Given the description of an element on the screen output the (x, y) to click on. 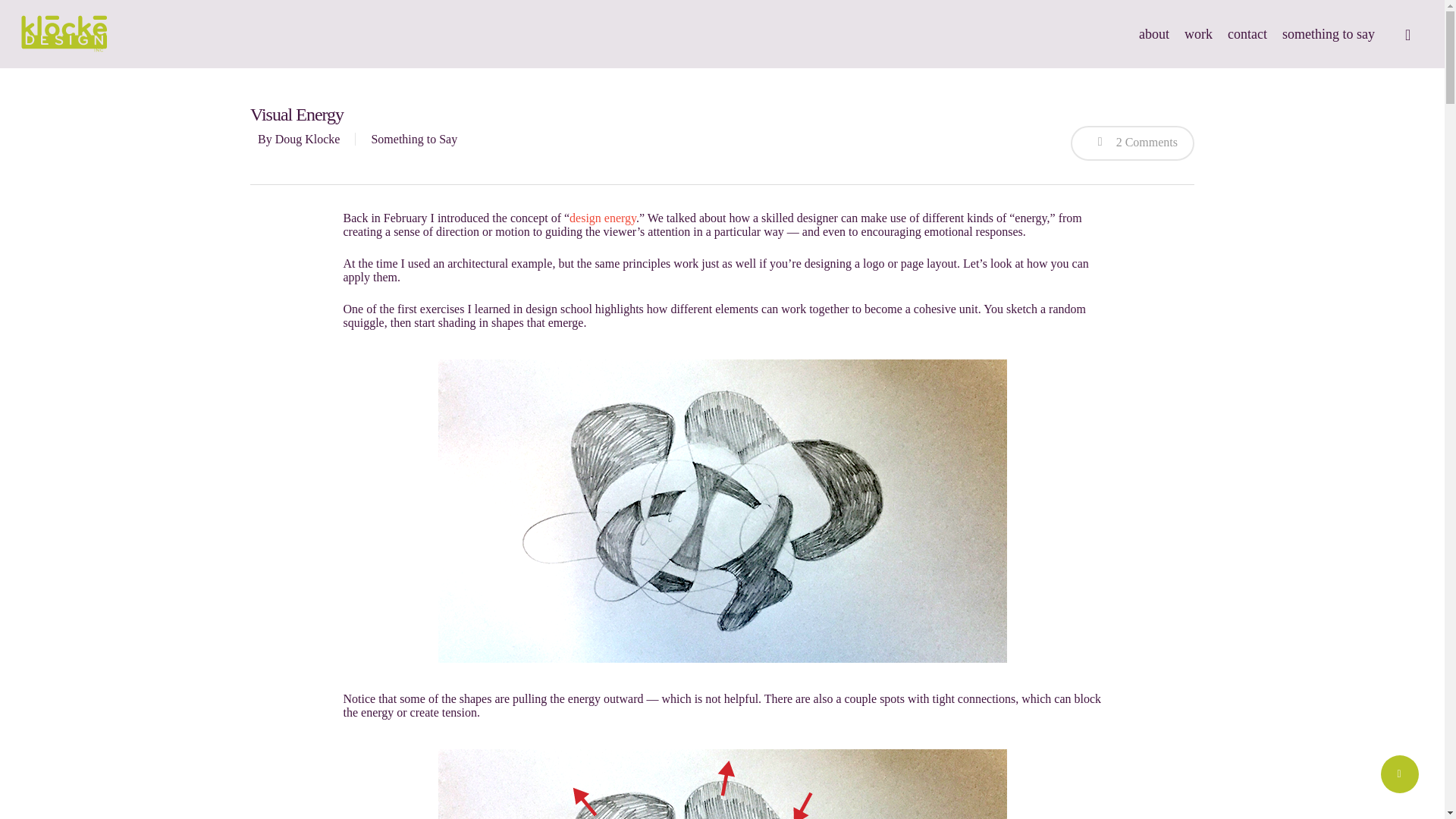
about (1153, 33)
work (1198, 33)
contact (1247, 33)
design energy (602, 217)
Something to Say (414, 138)
something to say (1328, 33)
Doug Klocke (307, 138)
2 Comments (1131, 143)
Posts by Doug Klocke (307, 138)
